Given the description of an element on the screen output the (x, y) to click on. 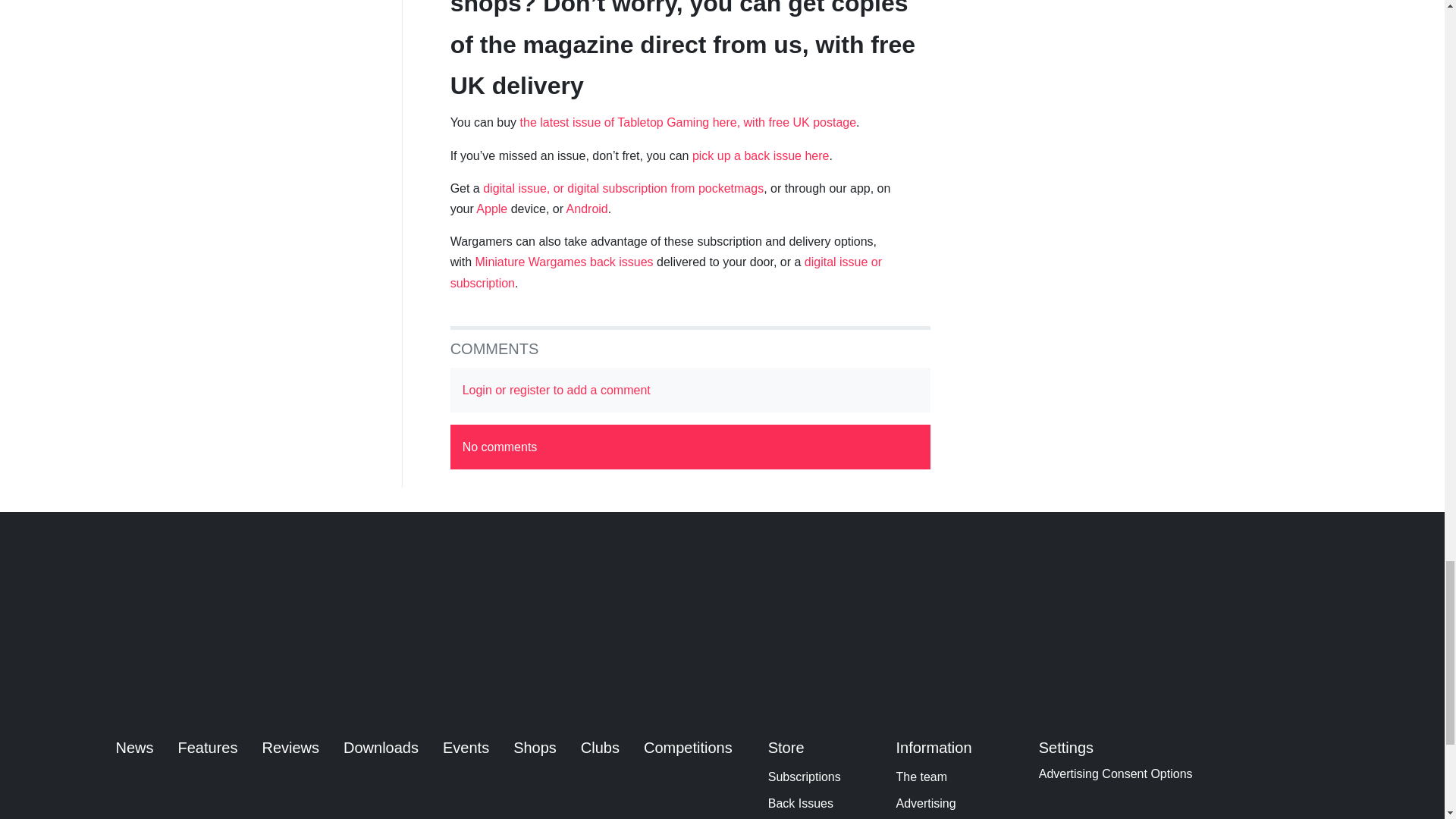
View your Advertising Consent options for this website (1115, 773)
